Given the description of an element on the screen output the (x, y) to click on. 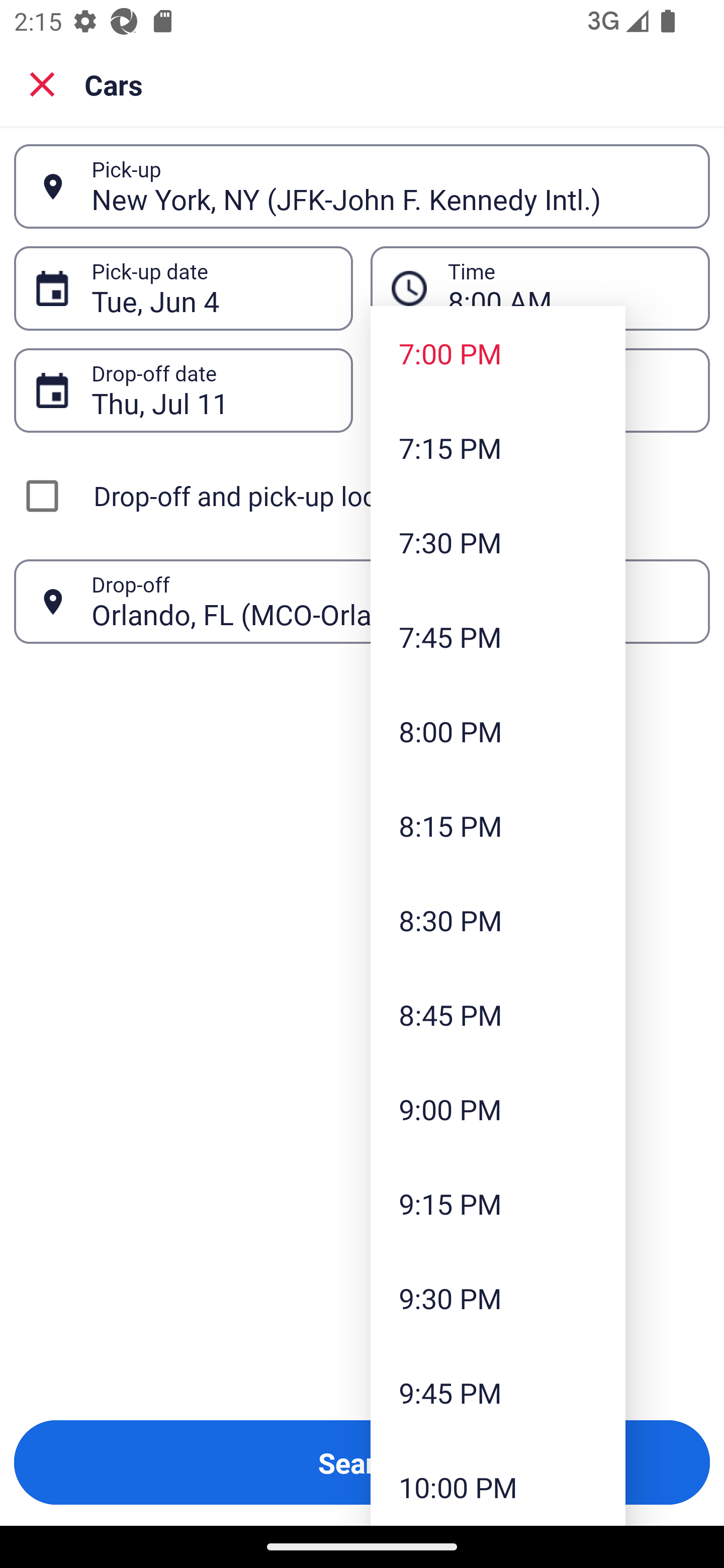
7:00 PM (497, 352)
7:15 PM (497, 447)
7:30 PM (497, 542)
7:45 PM (497, 636)
8:00 PM (497, 730)
8:15 PM (497, 825)
8:30 PM (497, 920)
8:45 PM (497, 1014)
9:00 PM (497, 1109)
9:15 PM (497, 1204)
9:30 PM (497, 1298)
9:45 PM (497, 1392)
10:00 PM (497, 1482)
